Given the description of an element on the screen output the (x, y) to click on. 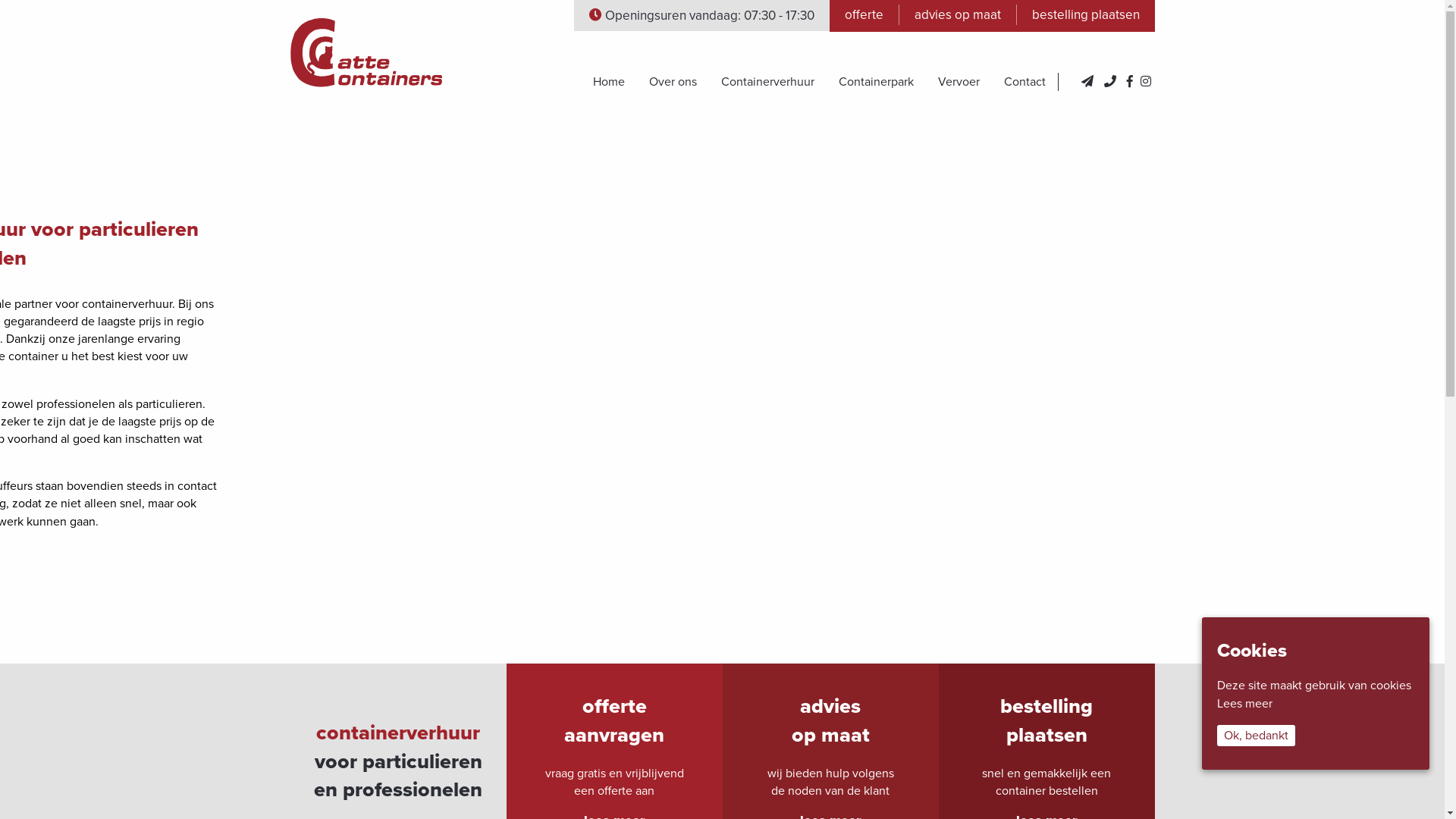
advies op maat Element type: text (956, 14)
Home Element type: text (608, 81)
Containerverhuur Element type: text (766, 81)
Containerpark Element type: text (875, 81)
Catte Containers Element type: hover (365, 51)
Lees meer Element type: text (1244, 703)
Contact Element type: text (1024, 81)
Vervoer Element type: text (958, 81)
Ok, bedankt Element type: text (1256, 735)
Over ons Element type: text (673, 81)
bestelling plaatsen Element type: text (1085, 14)
offerte Element type: text (863, 14)
